Given the description of an element on the screen output the (x, y) to click on. 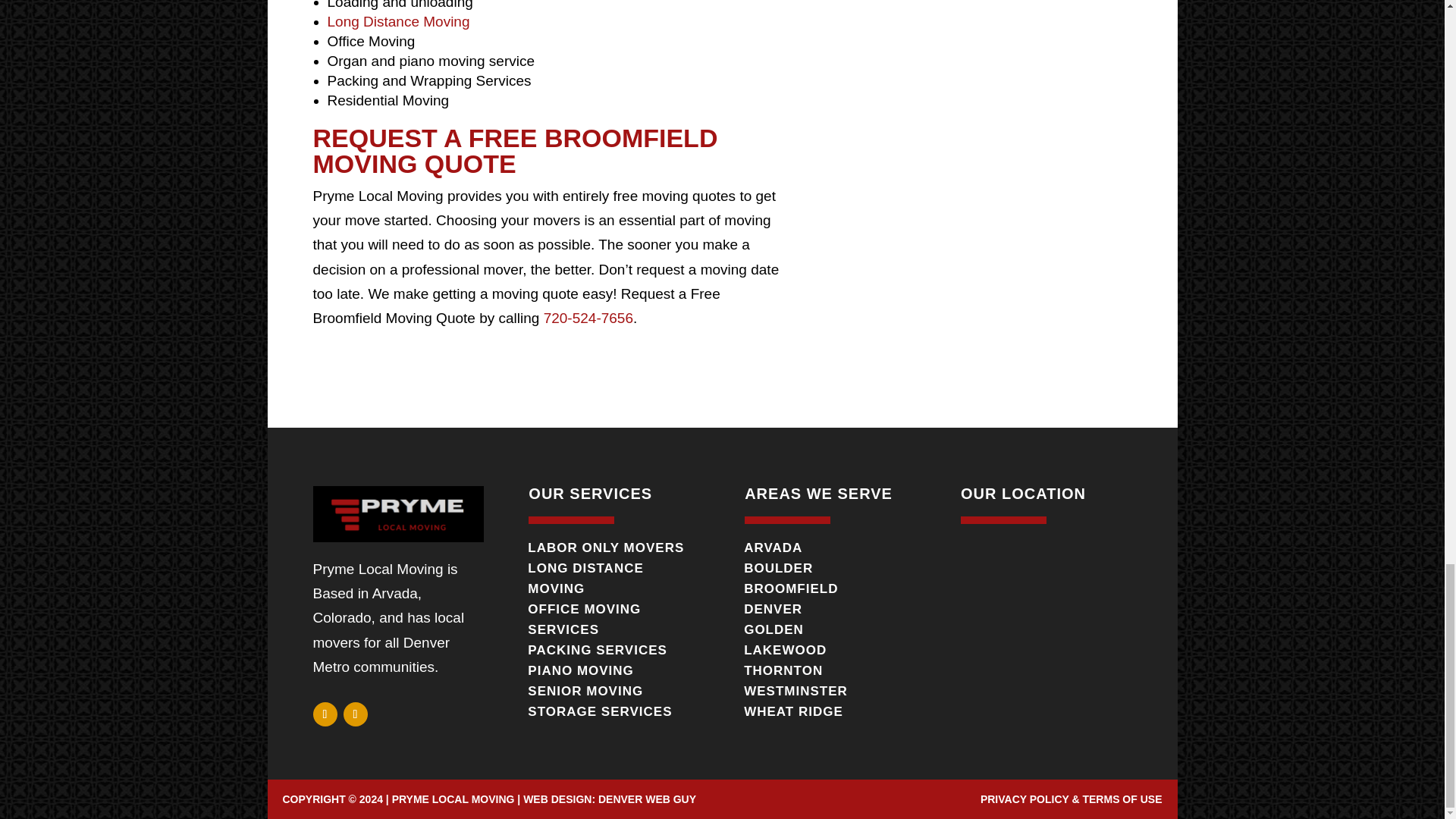
Follow on WhatsApp (354, 713)
Follow on Facebook (324, 713)
logo-PRYME-MOVING (398, 514)
